Given the description of an element on the screen output the (x, y) to click on. 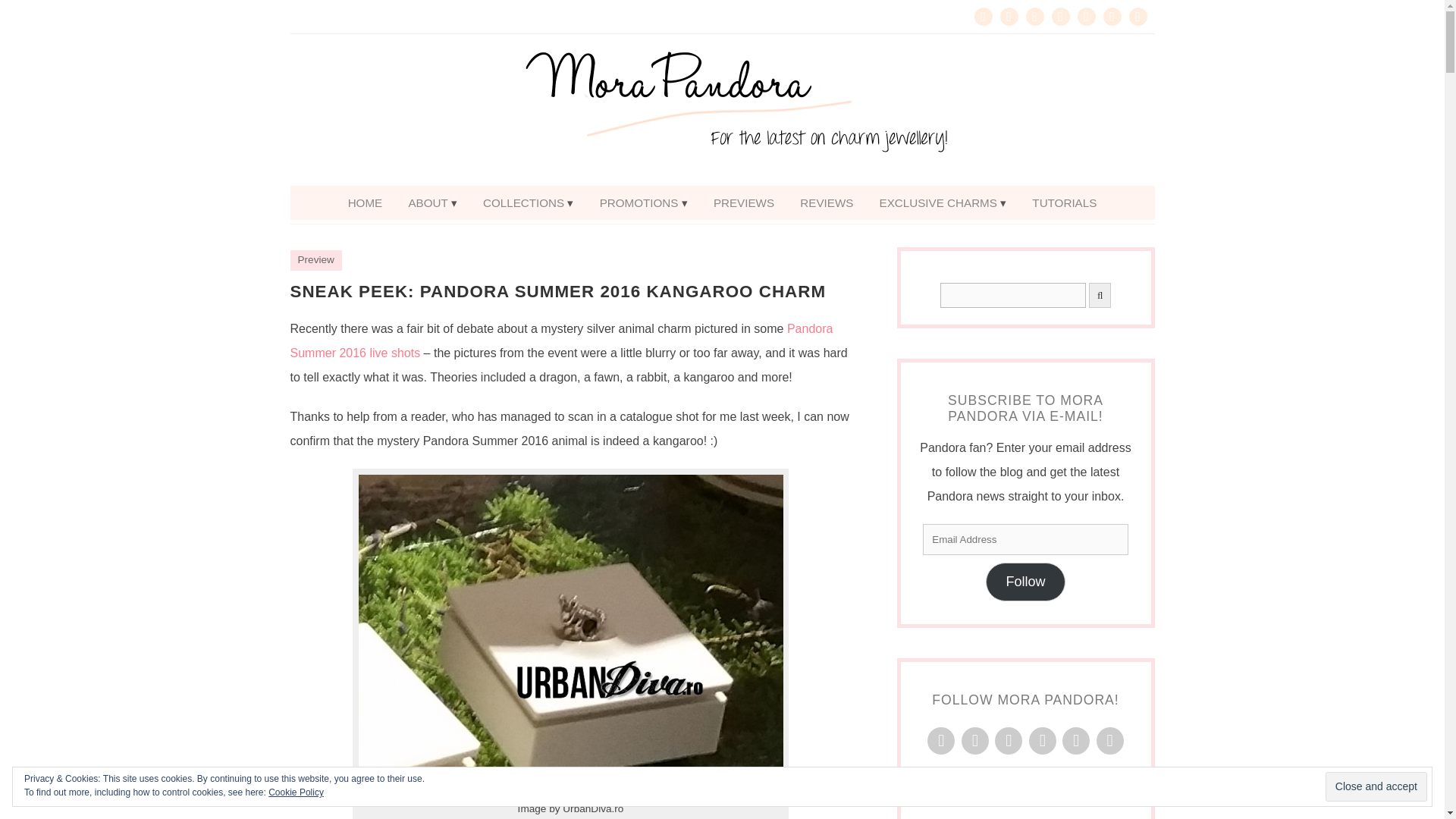
HOME (365, 202)
Sneak Peek: Pandora Summer 2016 Kangaroo Charm (557, 291)
PROMOTIONS (643, 202)
Mora Pandora (721, 109)
EXCLUSIVE CHARMS (942, 202)
ABOUT (431, 202)
Pandora Summer 2016 live shots (560, 340)
Search (1013, 294)
TUTORIALS (1064, 202)
REVIEWS (826, 202)
COLLECTIONS (528, 202)
PREVIEWS (743, 202)
Close and accept (1375, 786)
Preview (315, 259)
SNEAK PEEK: PANDORA SUMMER 2016 KANGAROO CHARM (557, 291)
